Given the description of an element on the screen output the (x, y) to click on. 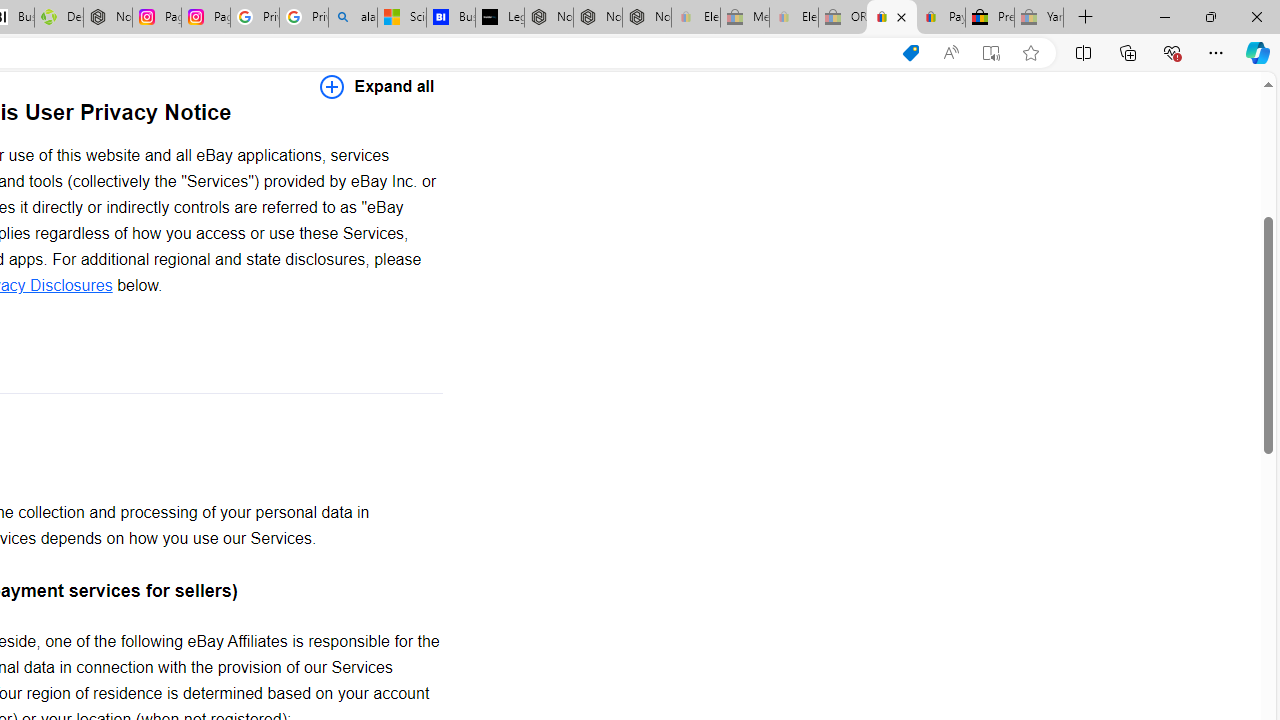
Expand all (377, 86)
Payments Terms of Use | eBay.com (940, 17)
